Given the description of an element on the screen output the (x, y) to click on. 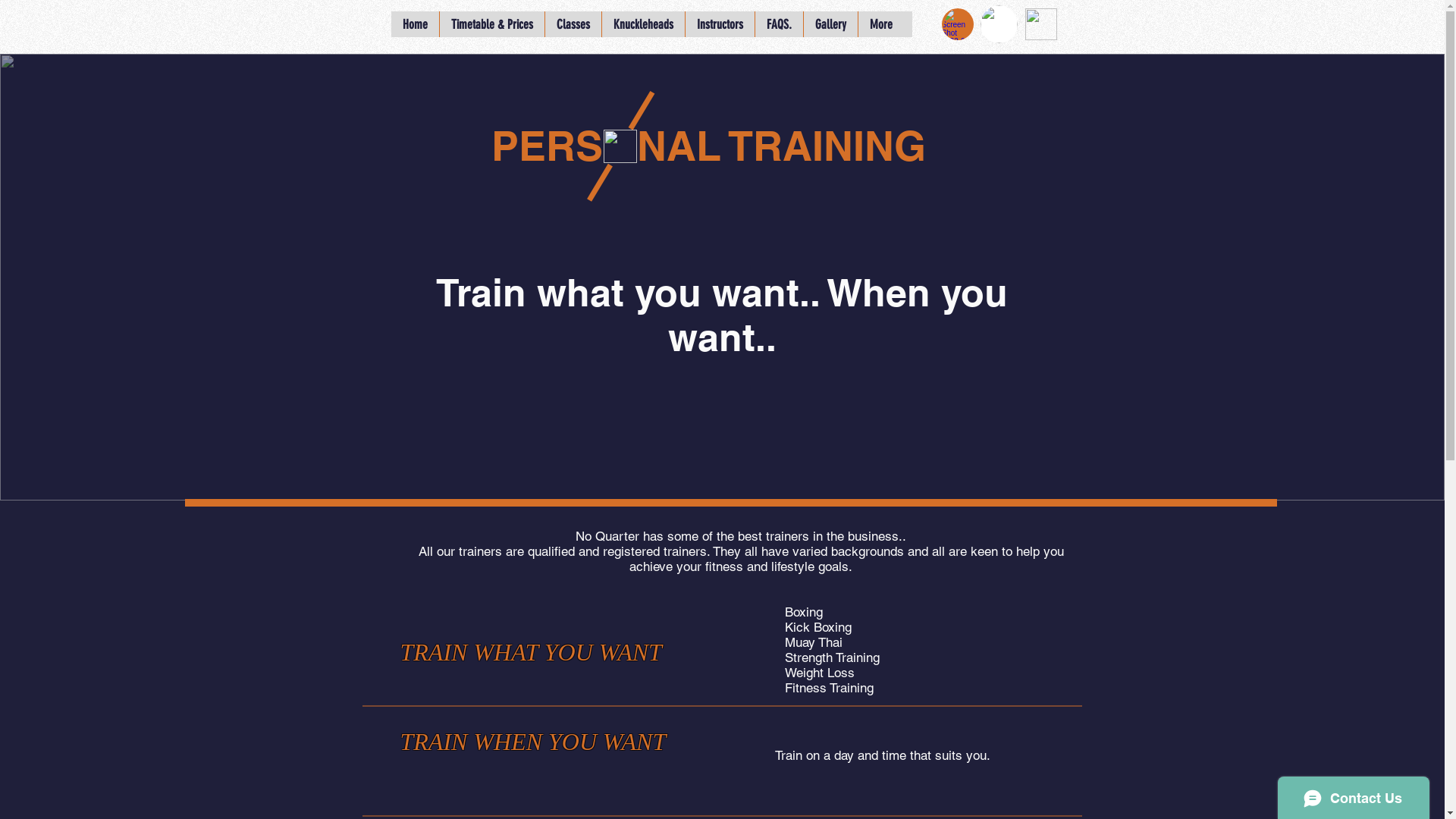
Instructors Element type: text (718, 24)
Screen%20Shot%202020-01-18%20at%2011.51_ Element type: hover (957, 24)
Classes Element type: text (572, 24)
Gallery Element type: text (829, 24)
punch icon.png Element type: hover (620, 146)
Knuckleheads Element type: text (642, 24)
Screen%20Shot%202020-01-18%20at%2011.50_ Element type: hover (1041, 24)
Home Element type: text (415, 24)
Screen%20Shot%202020-01-18%20at%2011.51_ Element type: hover (997, 24)
Timetable & Prices Element type: text (490, 24)
FAQS. Element type: text (777, 24)
